Given the description of an element on the screen output the (x, y) to click on. 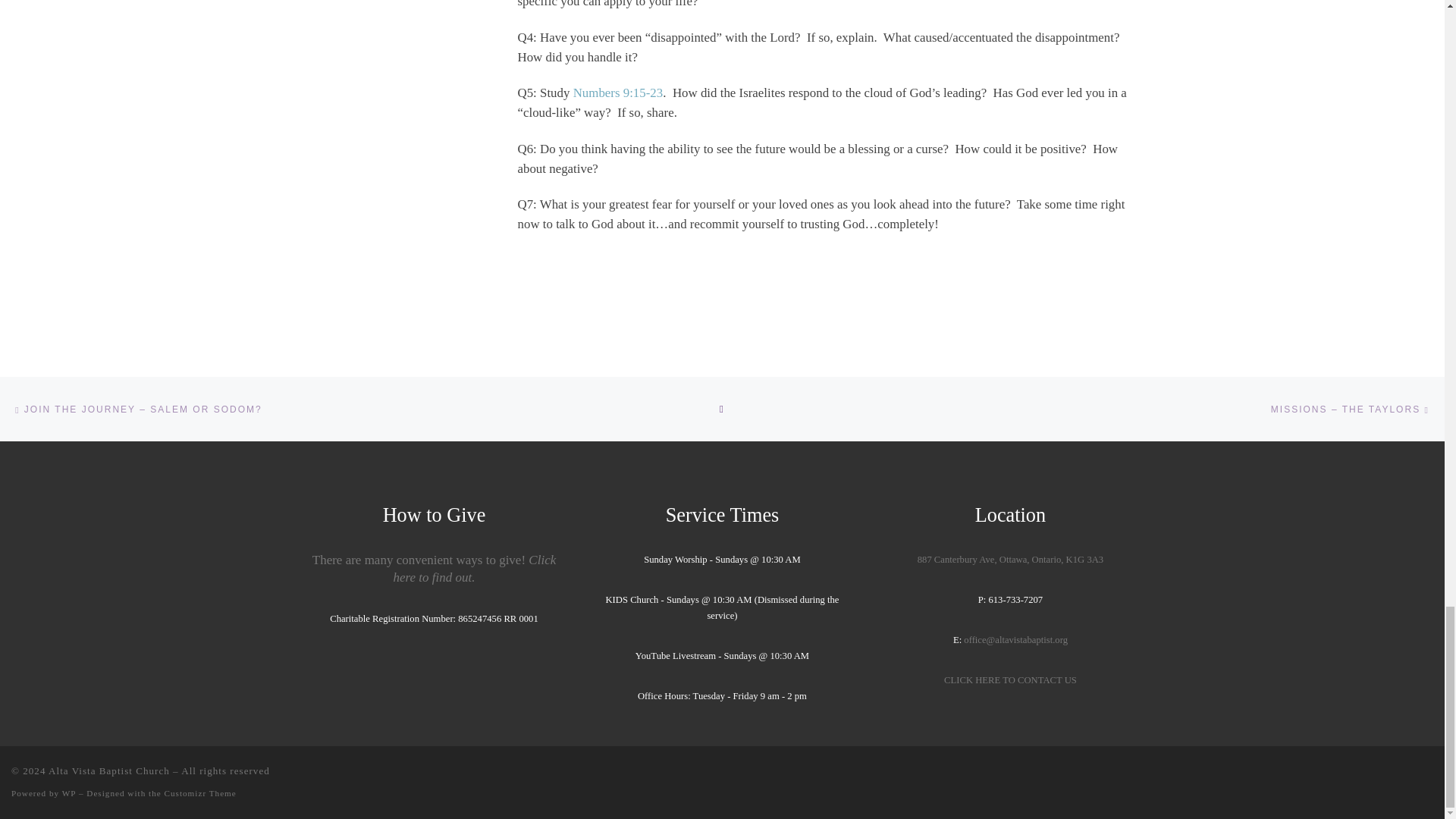
Customizr Theme (199, 792)
Powered by WordPress (68, 792)
Alta Vista Baptist Church (109, 770)
